Given the description of an element on the screen output the (x, y) to click on. 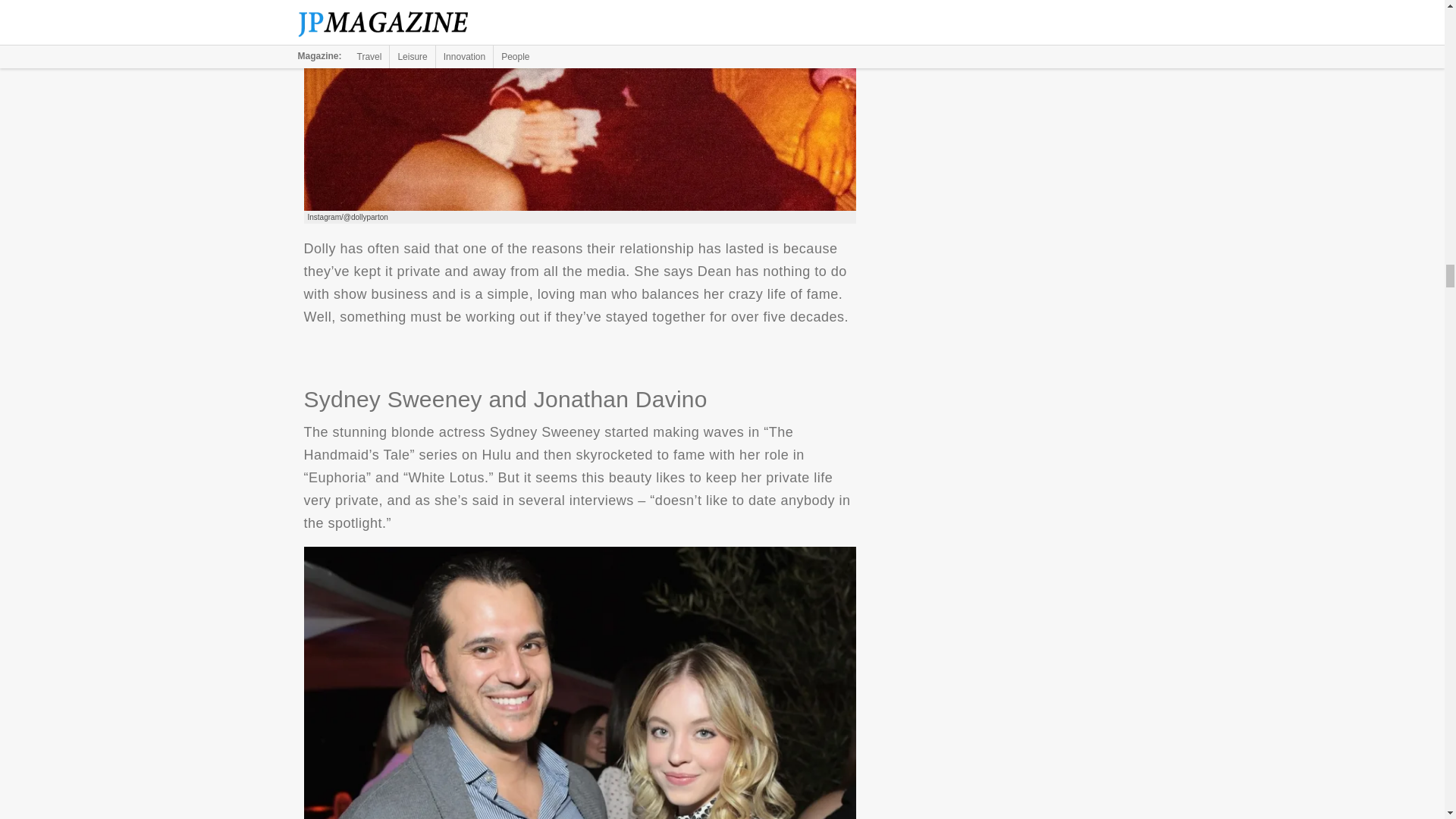
Dolly Parton and Carl Thomas Dean (579, 105)
